Given the description of an element on the screen output the (x, y) to click on. 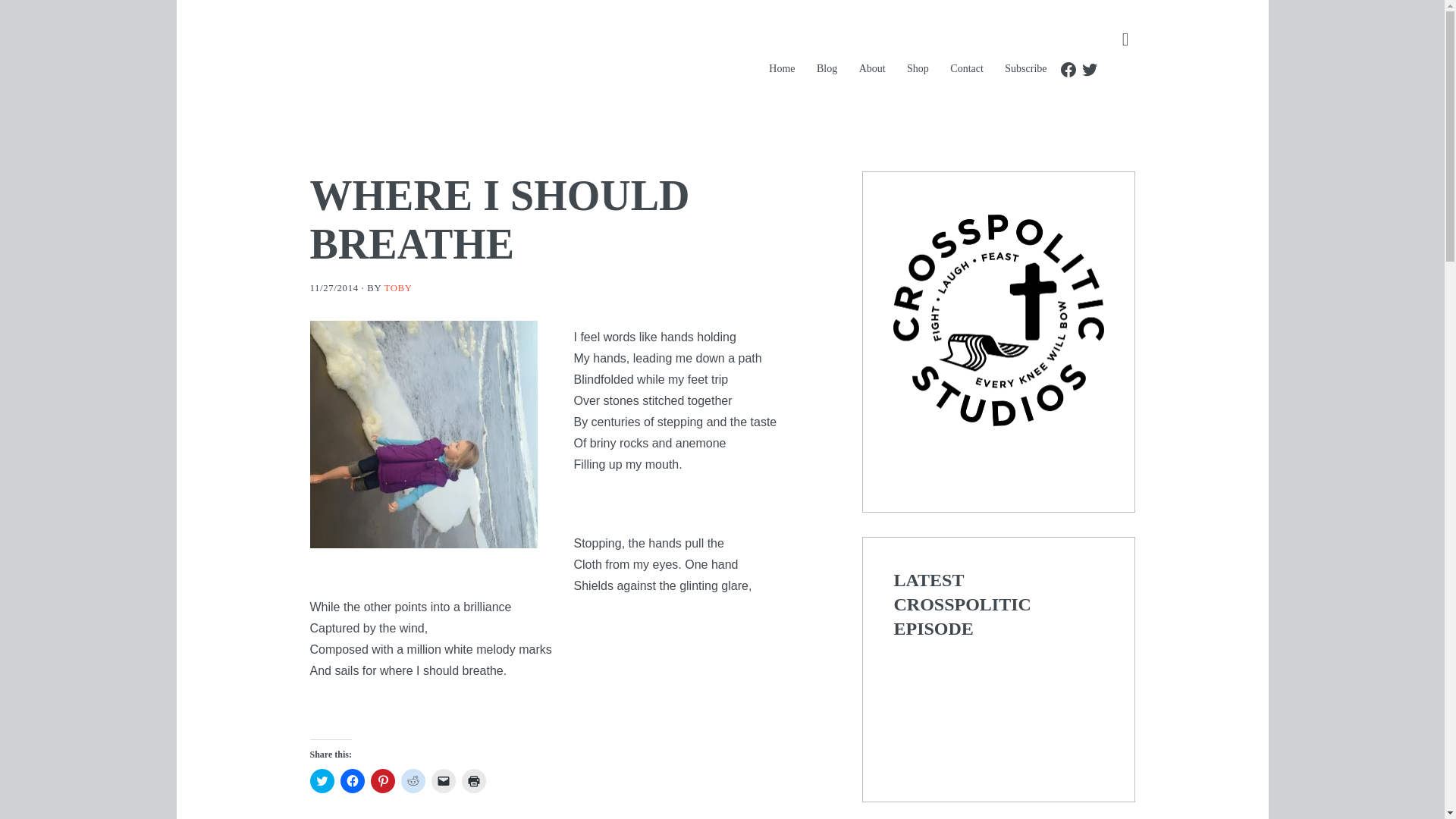
Click to share on Pinterest (381, 781)
Click to print (472, 781)
Click to share on Twitter (320, 781)
Click to email a link to a friend (442, 781)
Click to share on Facebook (351, 781)
Click to share on Reddit (412, 781)
TOBY (398, 287)
HAVING TWO LEGS (534, 60)
